Given the description of an element on the screen output the (x, y) to click on. 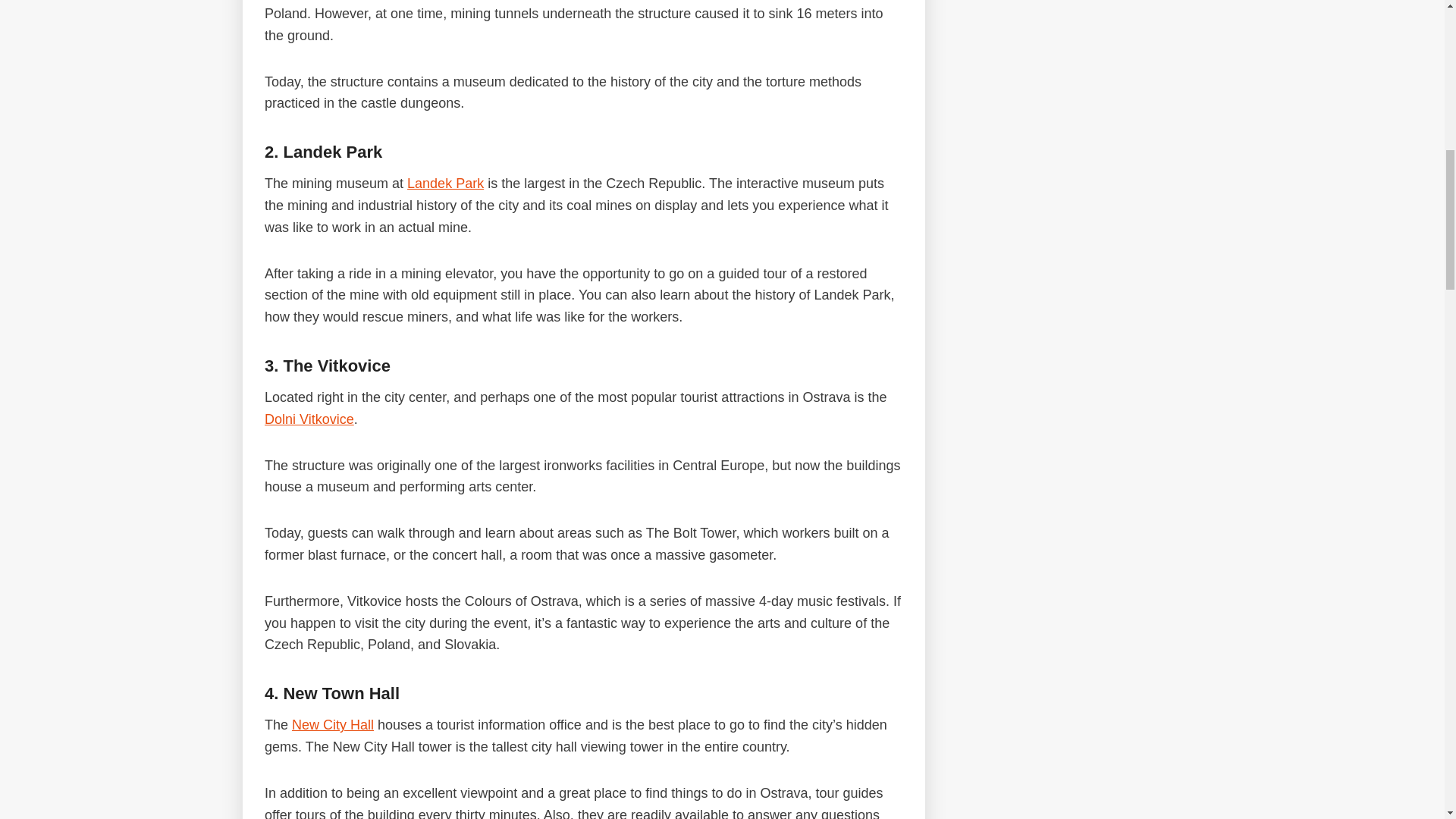
Landek Park (445, 183)
Dolni Vitkovice (308, 418)
New City Hall (333, 724)
